Given the description of an element on the screen output the (x, y) to click on. 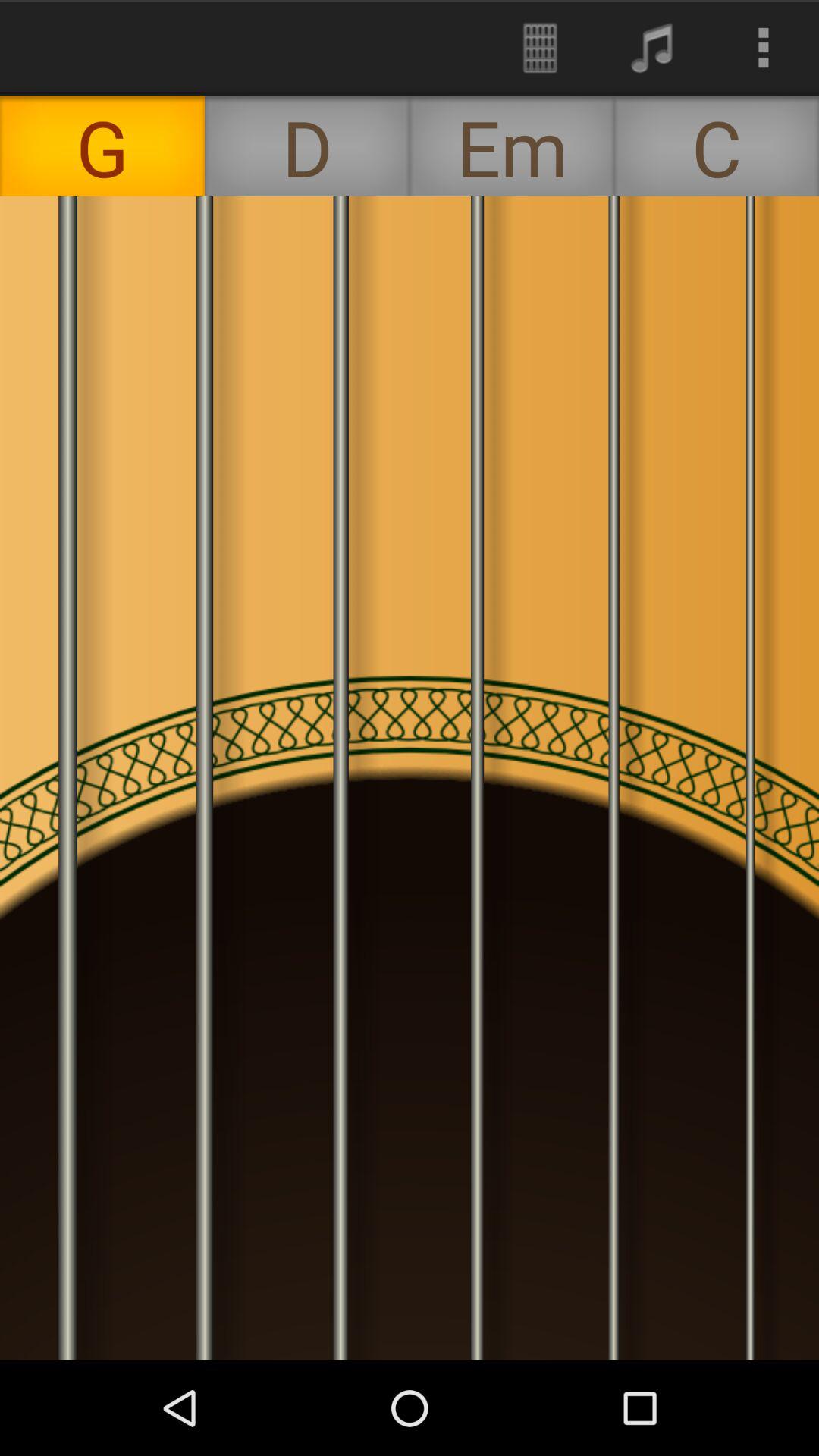
turn off the d (306, 145)
